Given the description of an element on the screen output the (x, y) to click on. 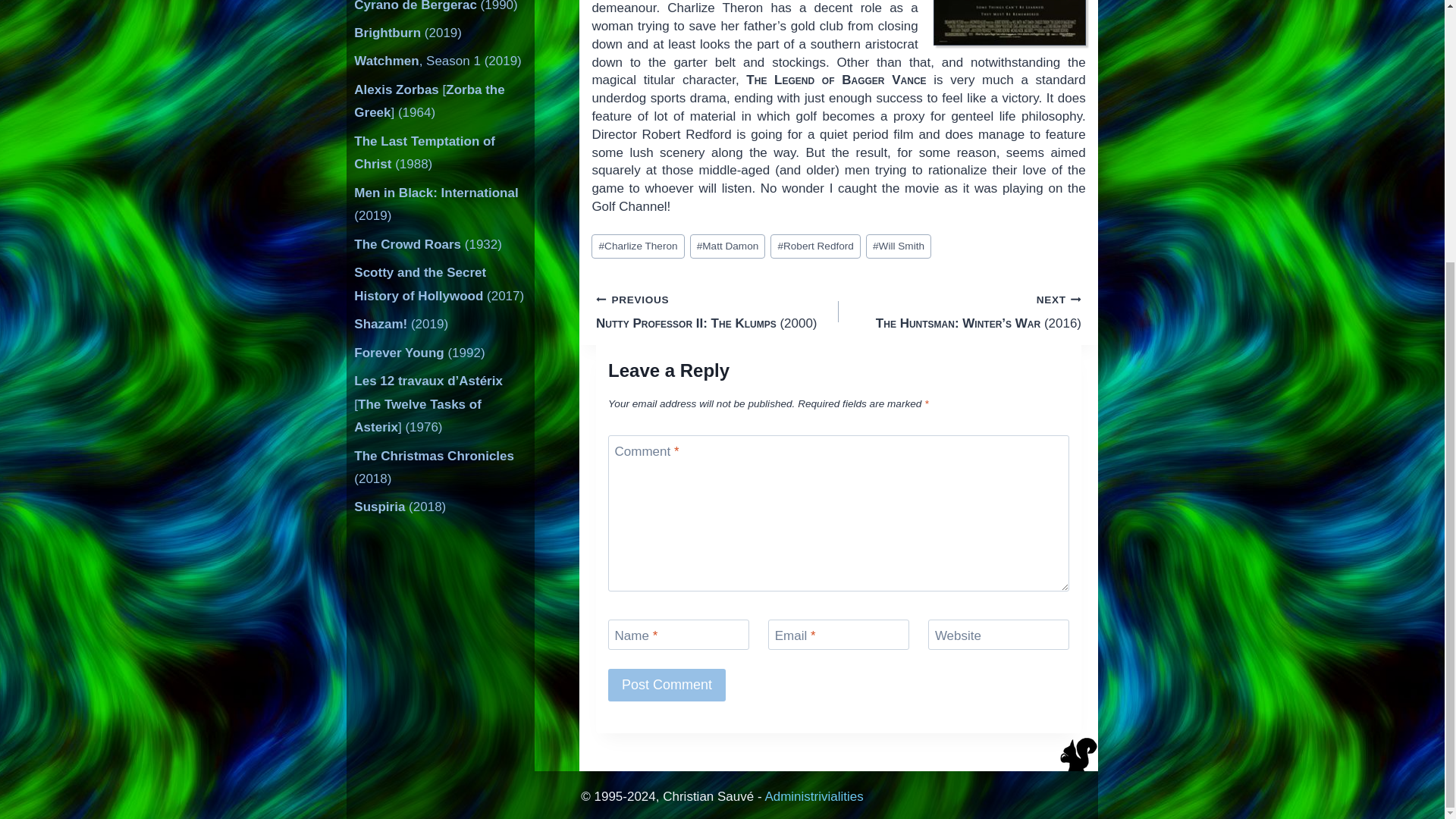
Robert Redford (815, 246)
Matt Damon (727, 246)
Post Comment (666, 685)
Charlize Theron (637, 246)
Post Comment (666, 685)
Will Smith (898, 246)
